Given the description of an element on the screen output the (x, y) to click on. 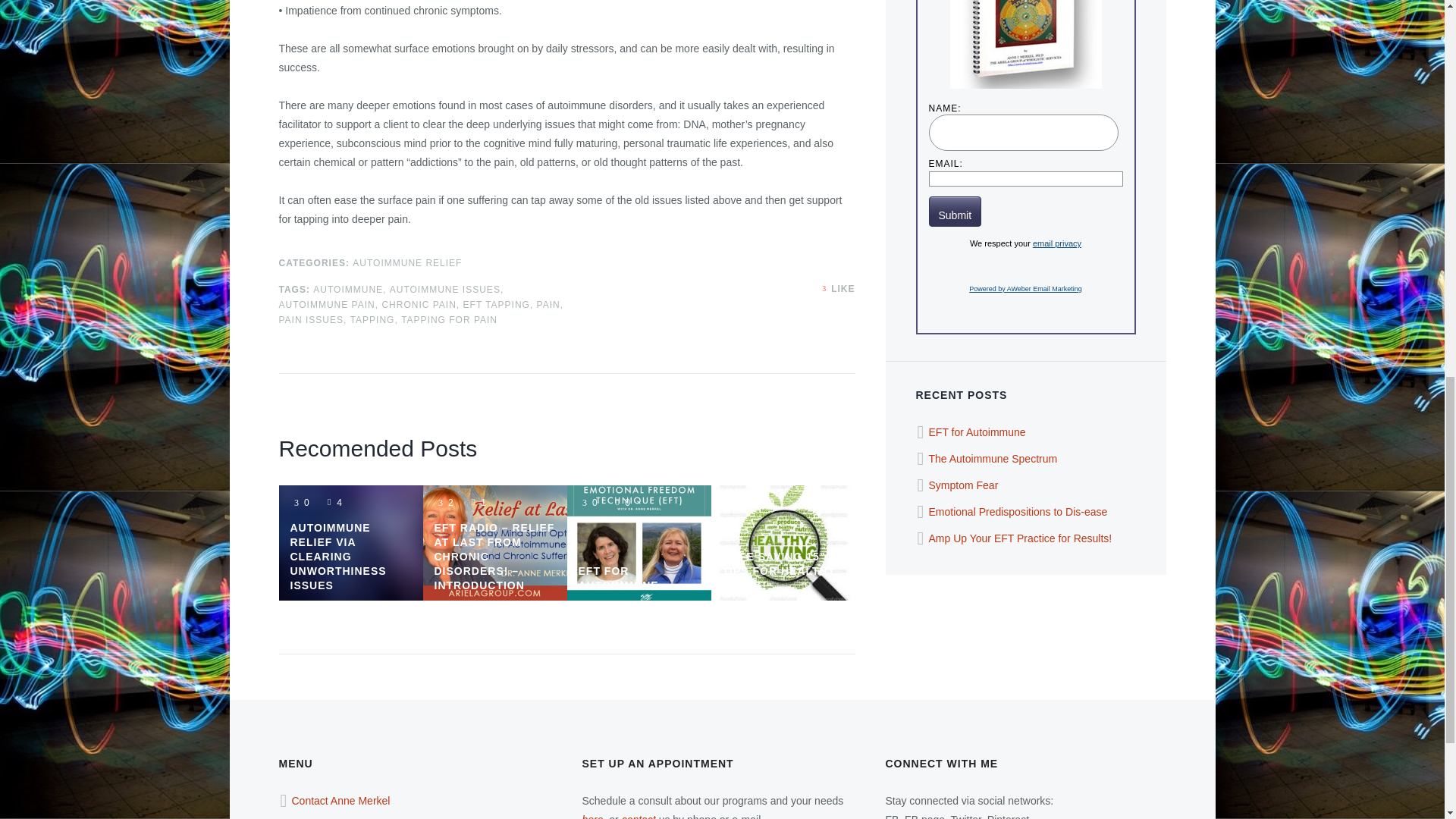
Submit (954, 211)
Comments - 0 (620, 502)
Like - 0 (824, 288)
Comments - 0 (764, 502)
Likes - 0 (298, 502)
Likes - 0 (731, 502)
Likes - 2 (442, 502)
Comments - 4 (332, 502)
Likes - 0 (587, 502)
Comments - 1 (476, 502)
